Given the description of an element on the screen output the (x, y) to click on. 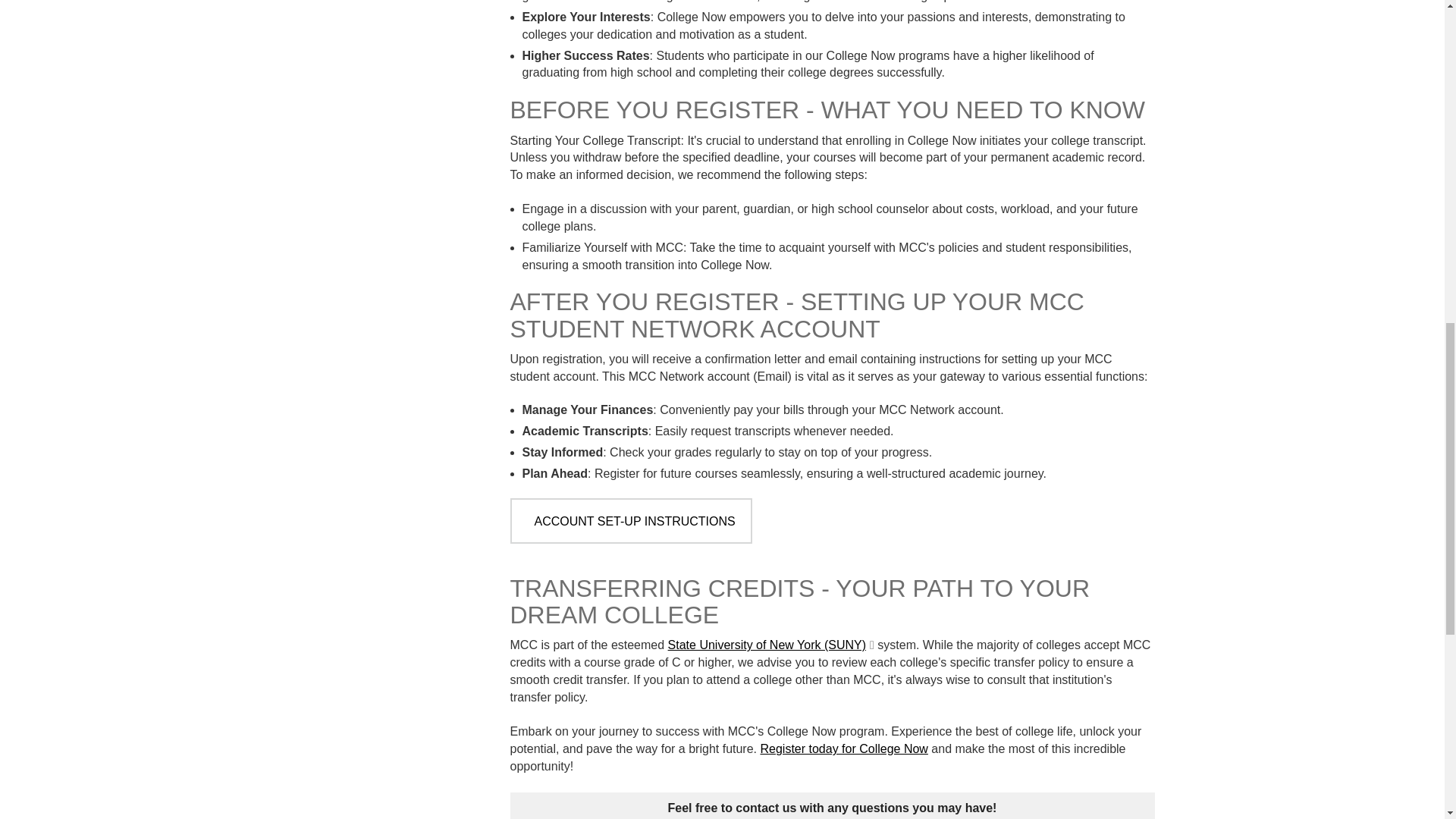
Opens internal link in new window (843, 748)
Opens external link in new window (771, 644)
Opens internal link in external window (630, 520)
